Given the description of an element on the screen output the (x, y) to click on. 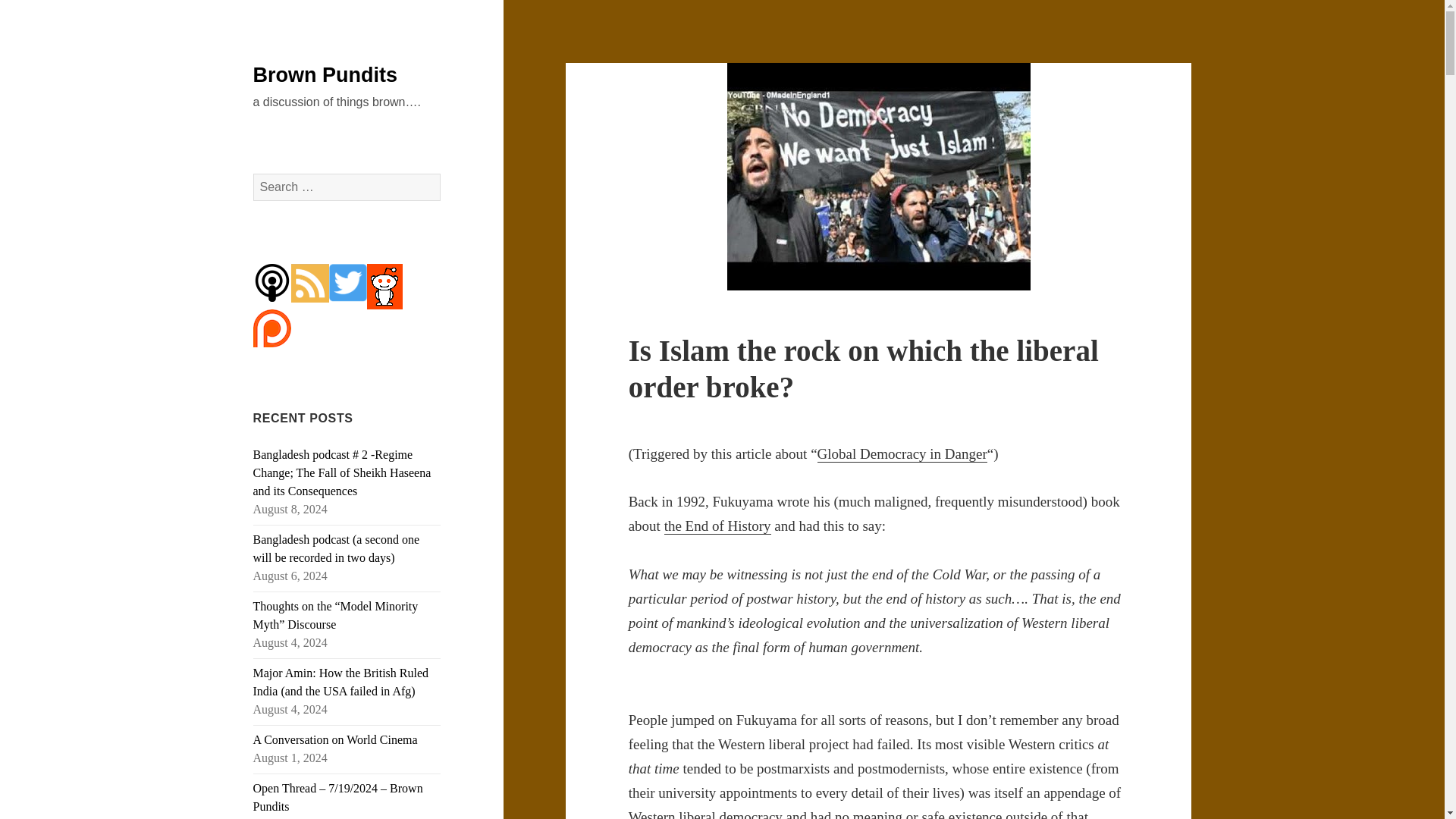
A Conversation on World Cinema (335, 739)
Brown Pundits (325, 74)
